Given the description of an element on the screen output the (x, y) to click on. 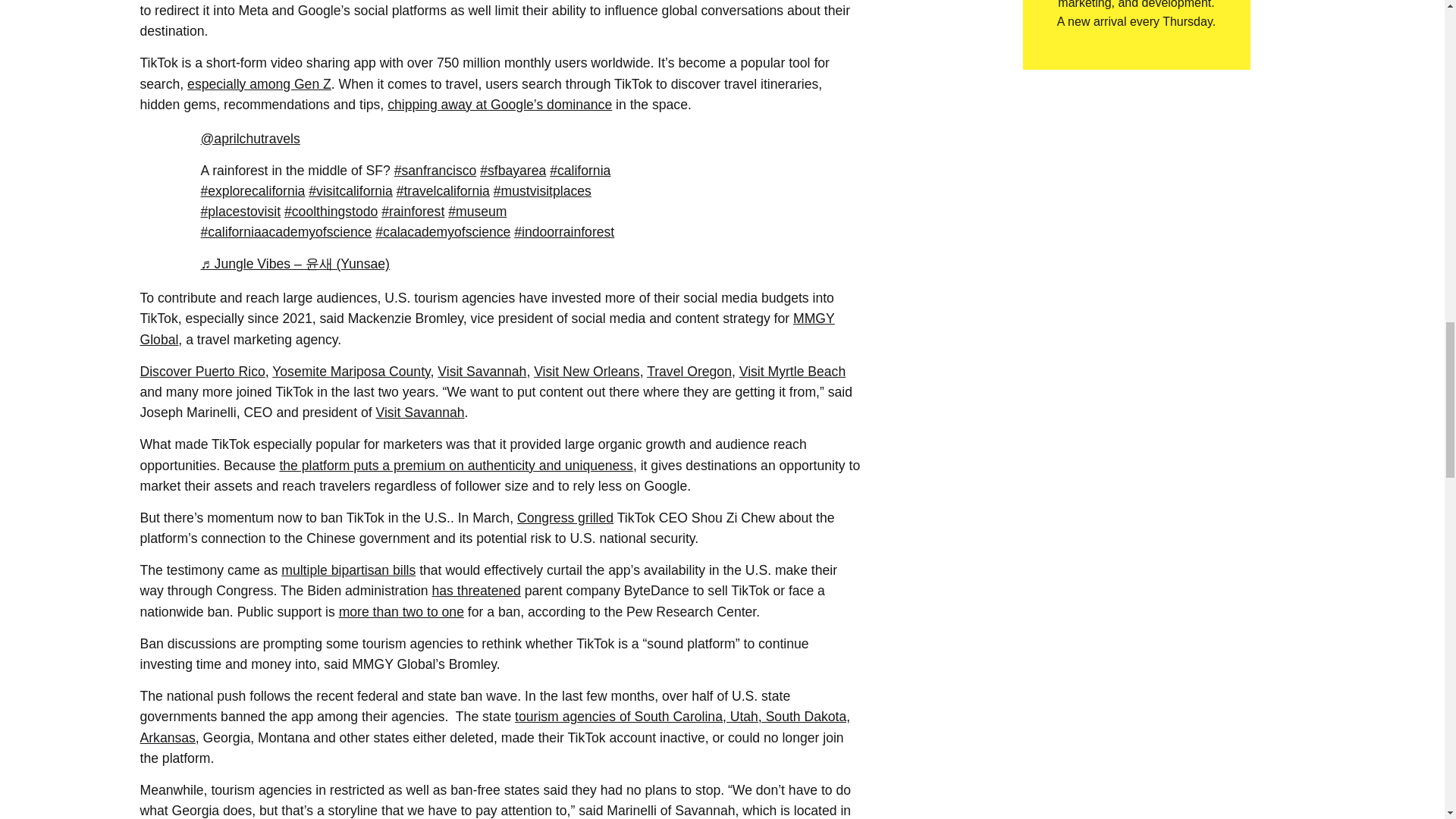
mustvisitplaces (542, 191)
rainforest (412, 211)
californiaacademyofscience (285, 231)
travelcalifornia (442, 191)
indoorrainforest (563, 231)
explorecalifornia (252, 191)
sfbayarea (513, 170)
placestovisit (240, 211)
calacademyofscience (443, 231)
museum (477, 211)
